Given the description of an element on the screen output the (x, y) to click on. 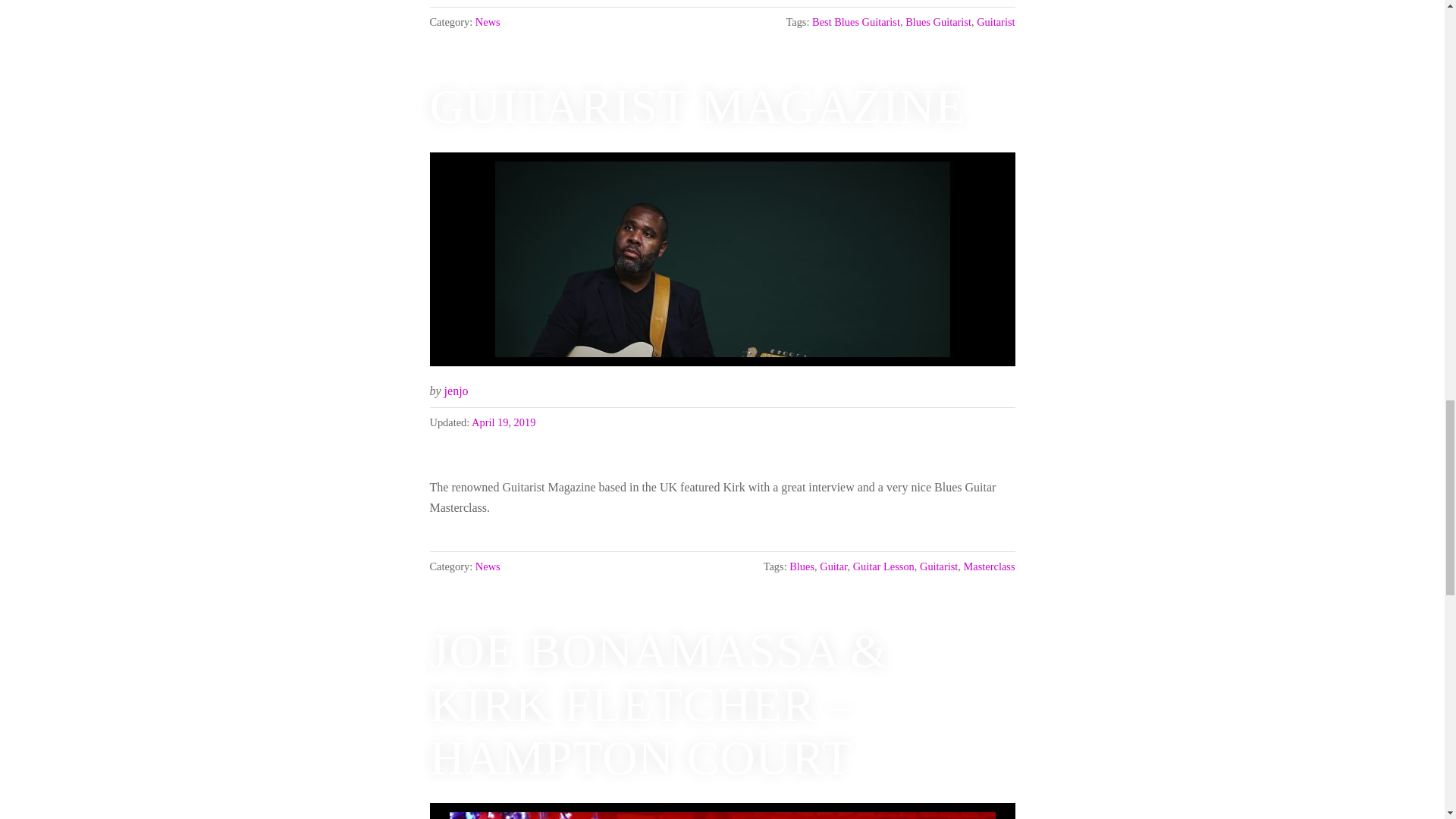
Permalink to Guitarist Magazine (721, 259)
GUITARIST MAGAZINE (697, 106)
Blues Guitarist (938, 21)
Posts by jenjo (456, 390)
Best Blues Guitarist (855, 21)
News (488, 21)
Guitarist (995, 21)
7:27 AM (503, 422)
